Given the description of an element on the screen output the (x, y) to click on. 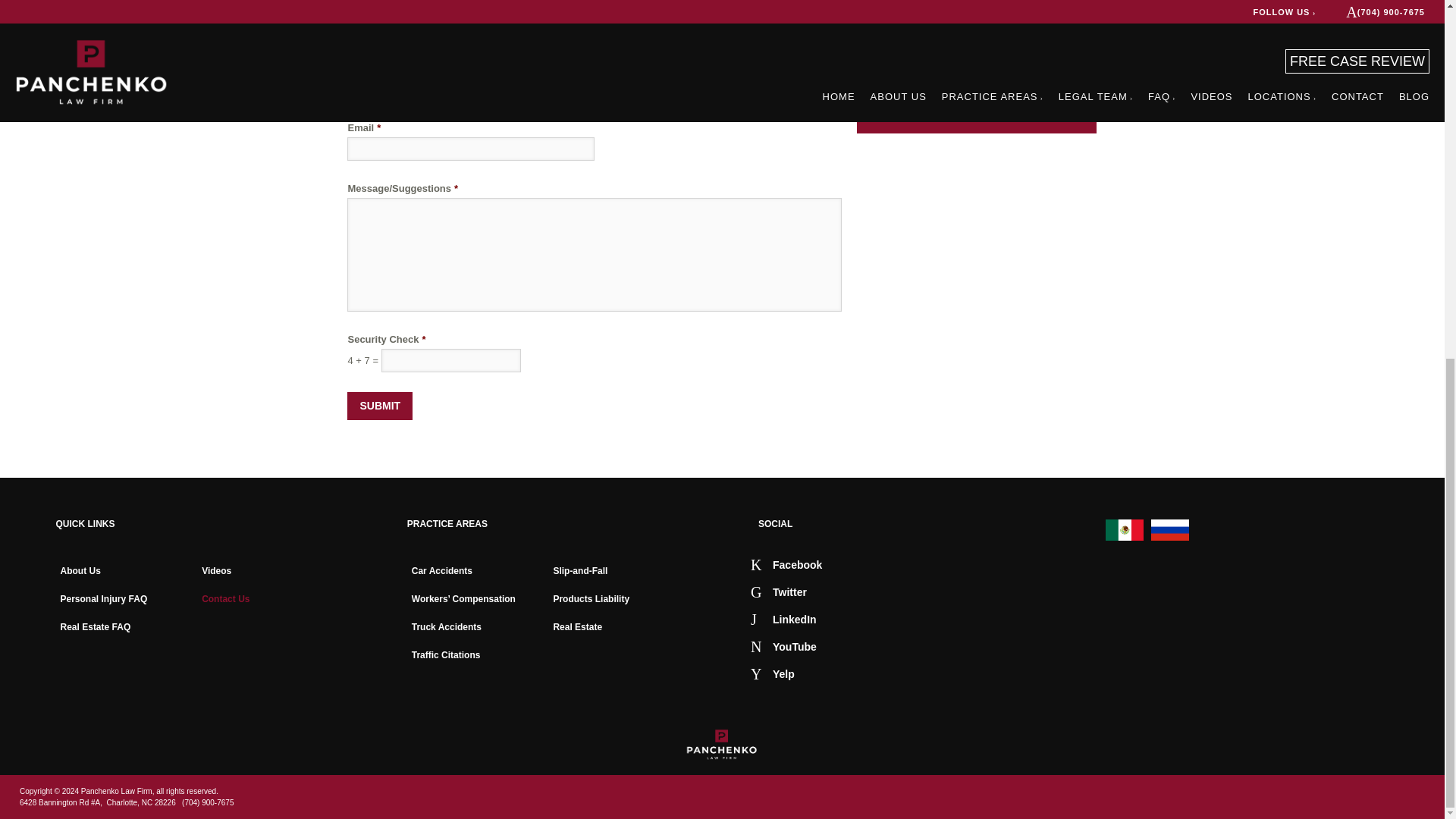
Facebook (786, 563)
LinkedIn (783, 618)
Twitter (778, 591)
See Details (1069, 61)
Submit (379, 406)
